Given the description of an element on the screen output the (x, y) to click on. 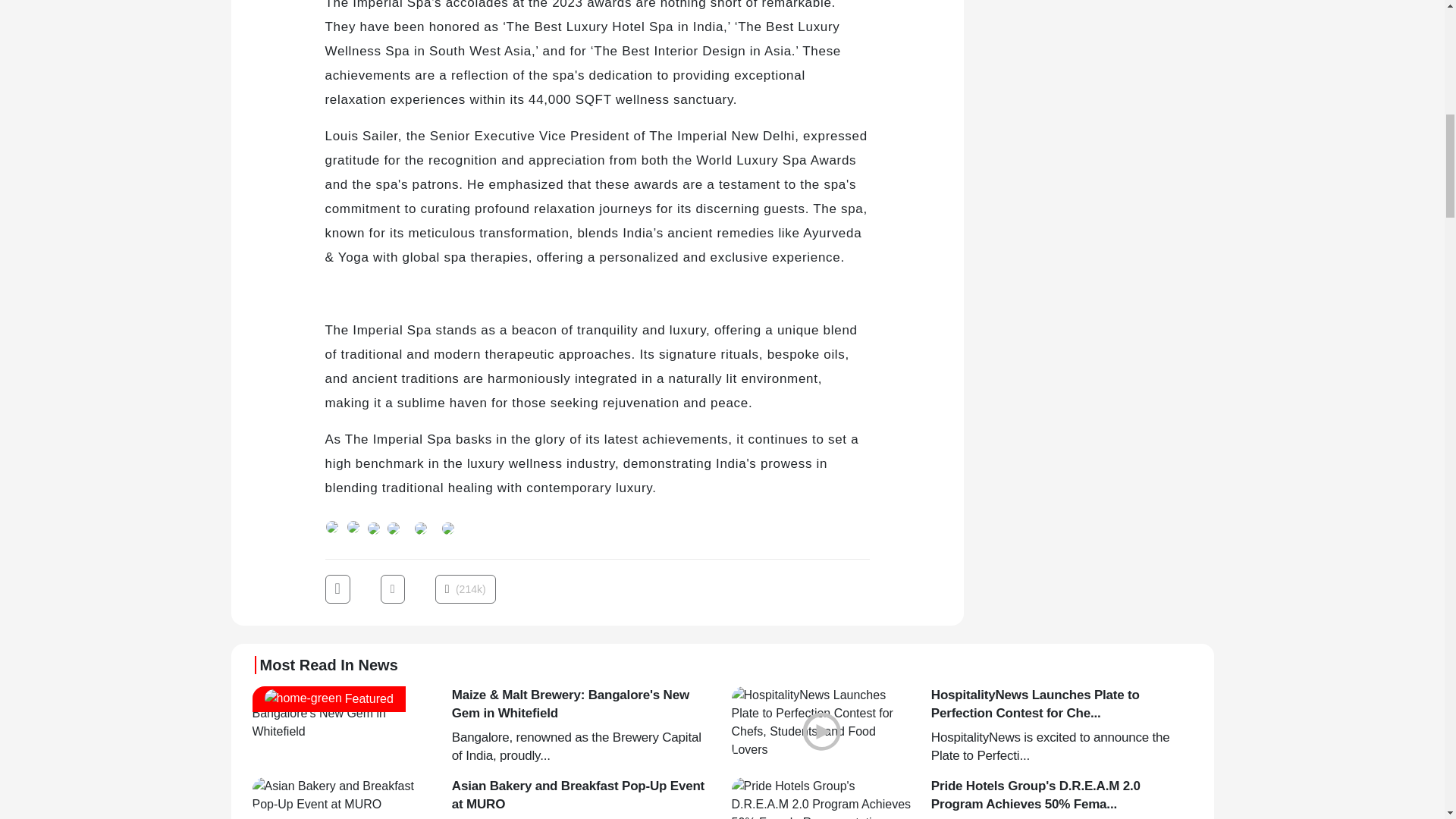
Save (447, 526)
Copy (419, 526)
